Given the description of an element on the screen output the (x, y) to click on. 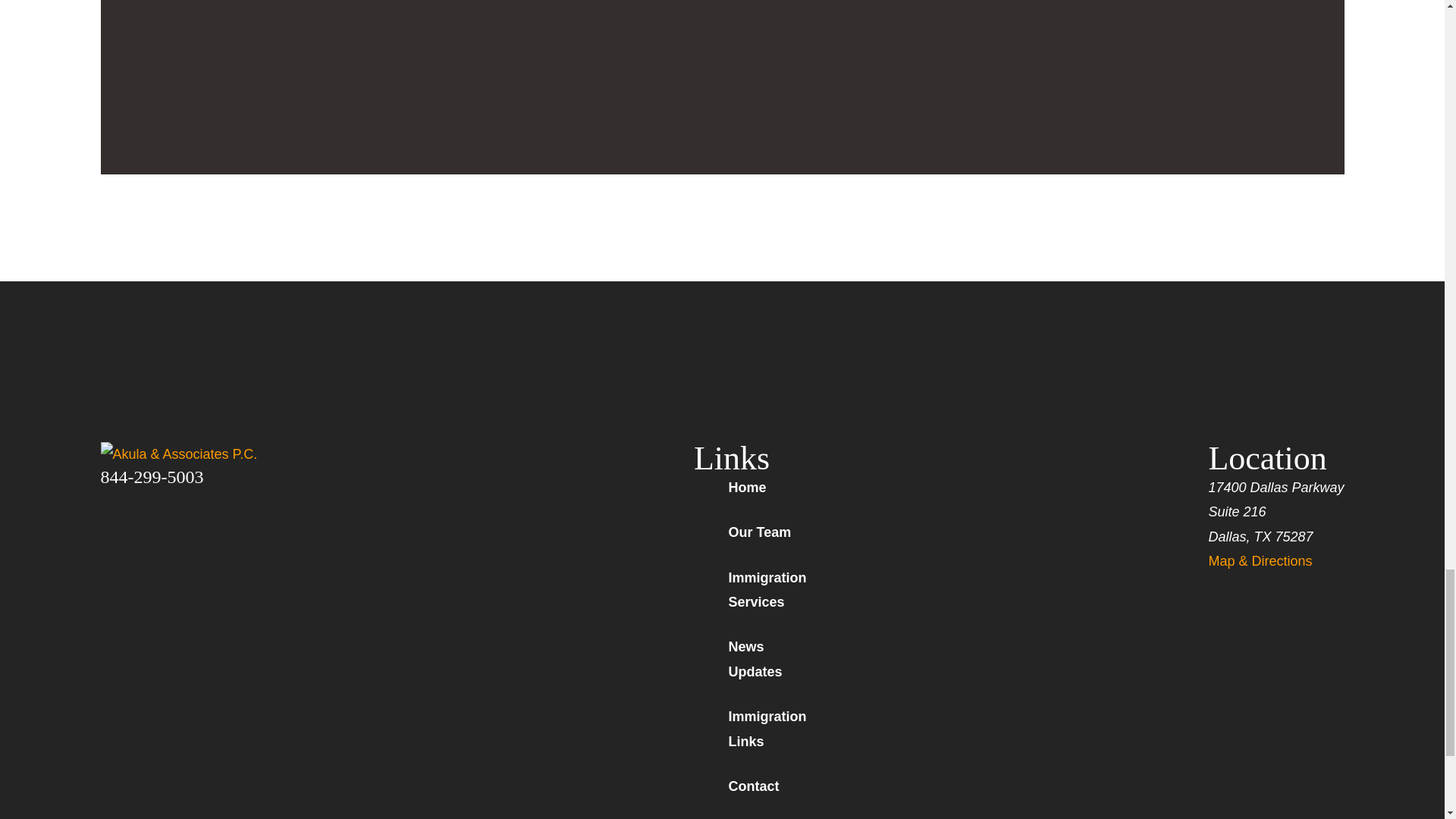
Twitter (148, 500)
LinkedIn (188, 500)
Facebook (109, 500)
Home (208, 454)
